Given the description of an element on the screen output the (x, y) to click on. 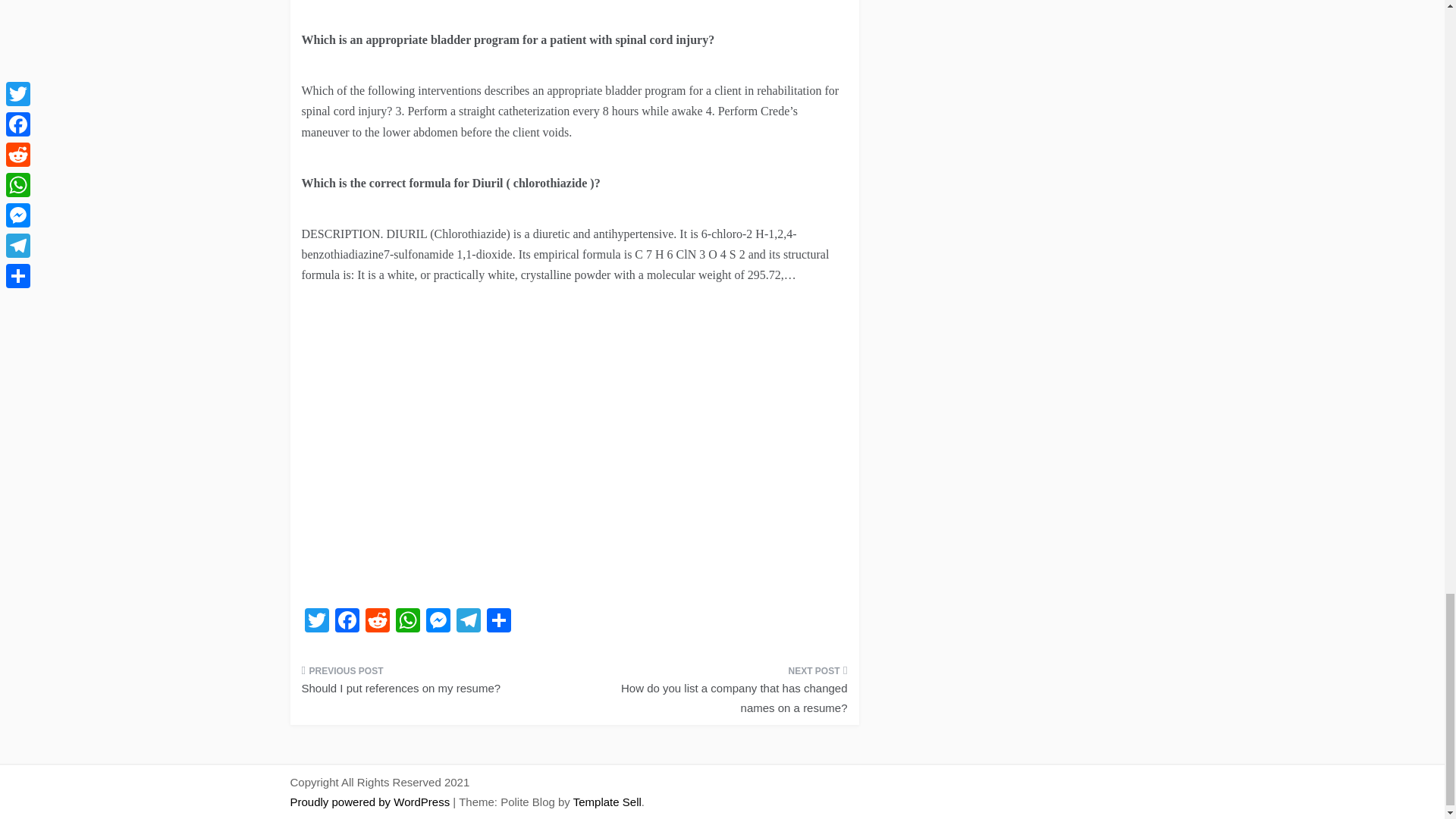
Should I put references on my resume? (432, 684)
WhatsApp (408, 622)
Facebook (346, 622)
Facebook (346, 622)
Reddit (377, 622)
Template Sell (607, 801)
Reddit (377, 622)
Twitter (316, 622)
Messenger (437, 622)
Messenger (437, 622)
Twitter (316, 622)
Telegram (467, 622)
WhatsApp (408, 622)
Proudly powered by WordPress (370, 801)
